Given the description of an element on the screen output the (x, y) to click on. 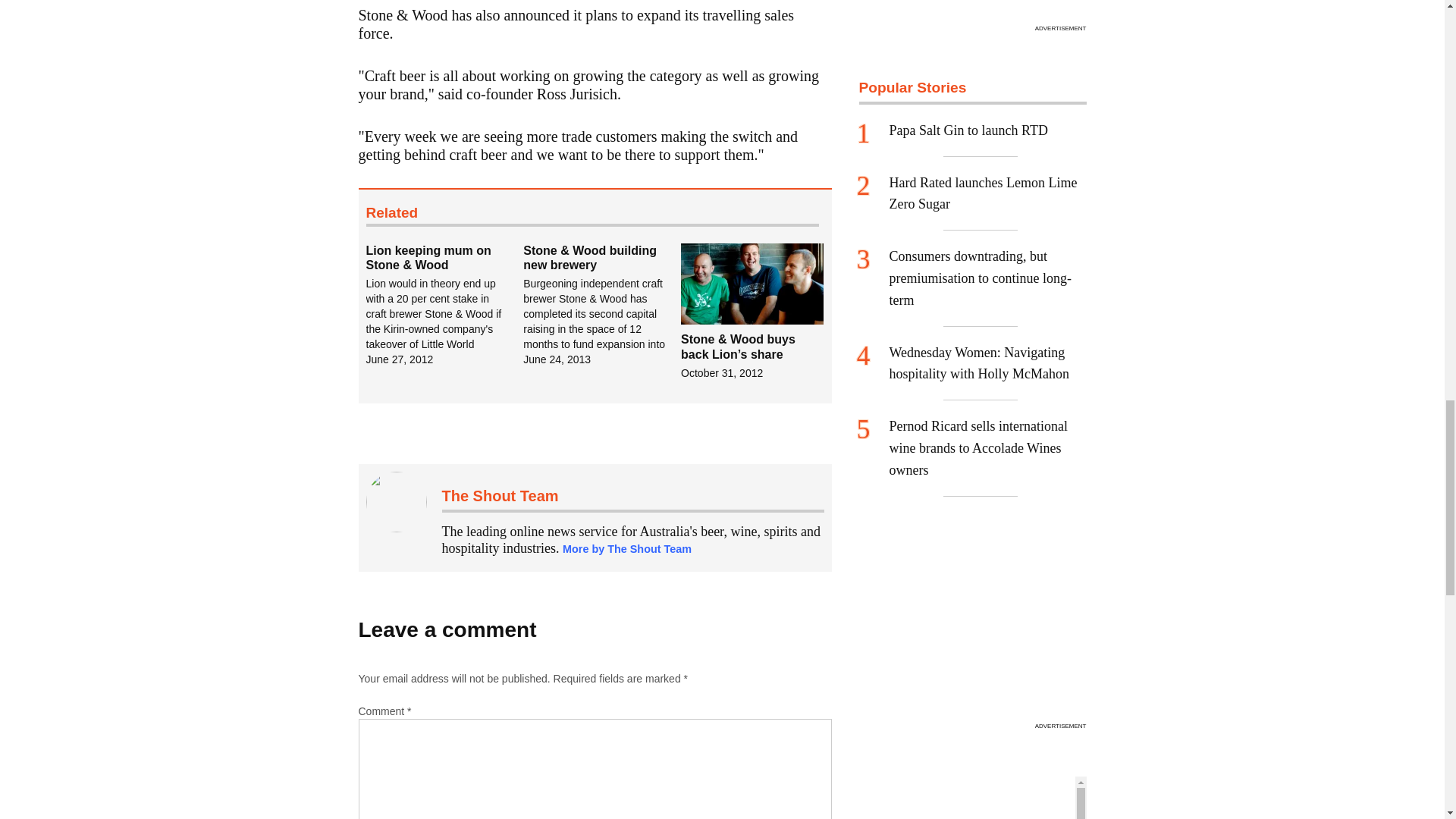
3rd party ad content (972, 9)
3rd party ad content (972, 621)
